Given the description of an element on the screen output the (x, y) to click on. 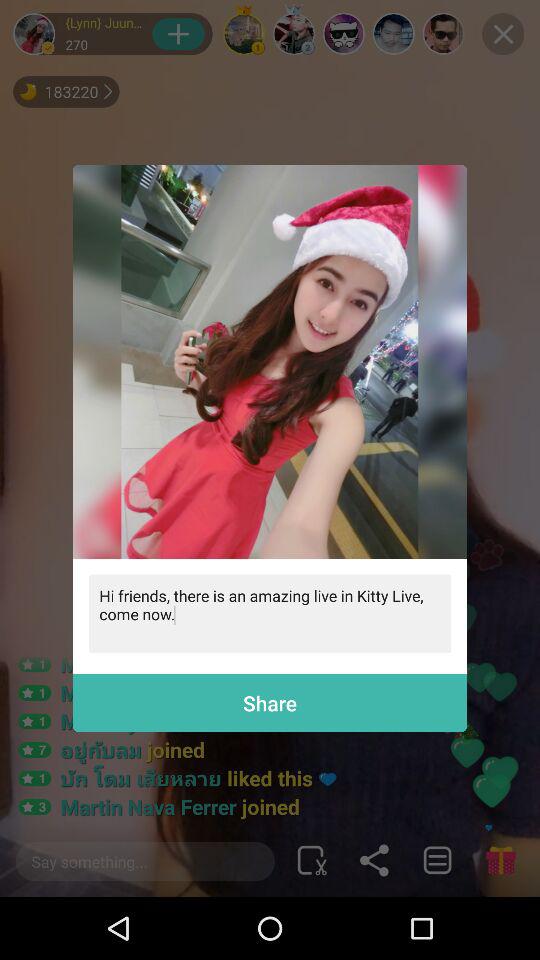
flip until share item (269, 702)
